Given the description of an element on the screen output the (x, y) to click on. 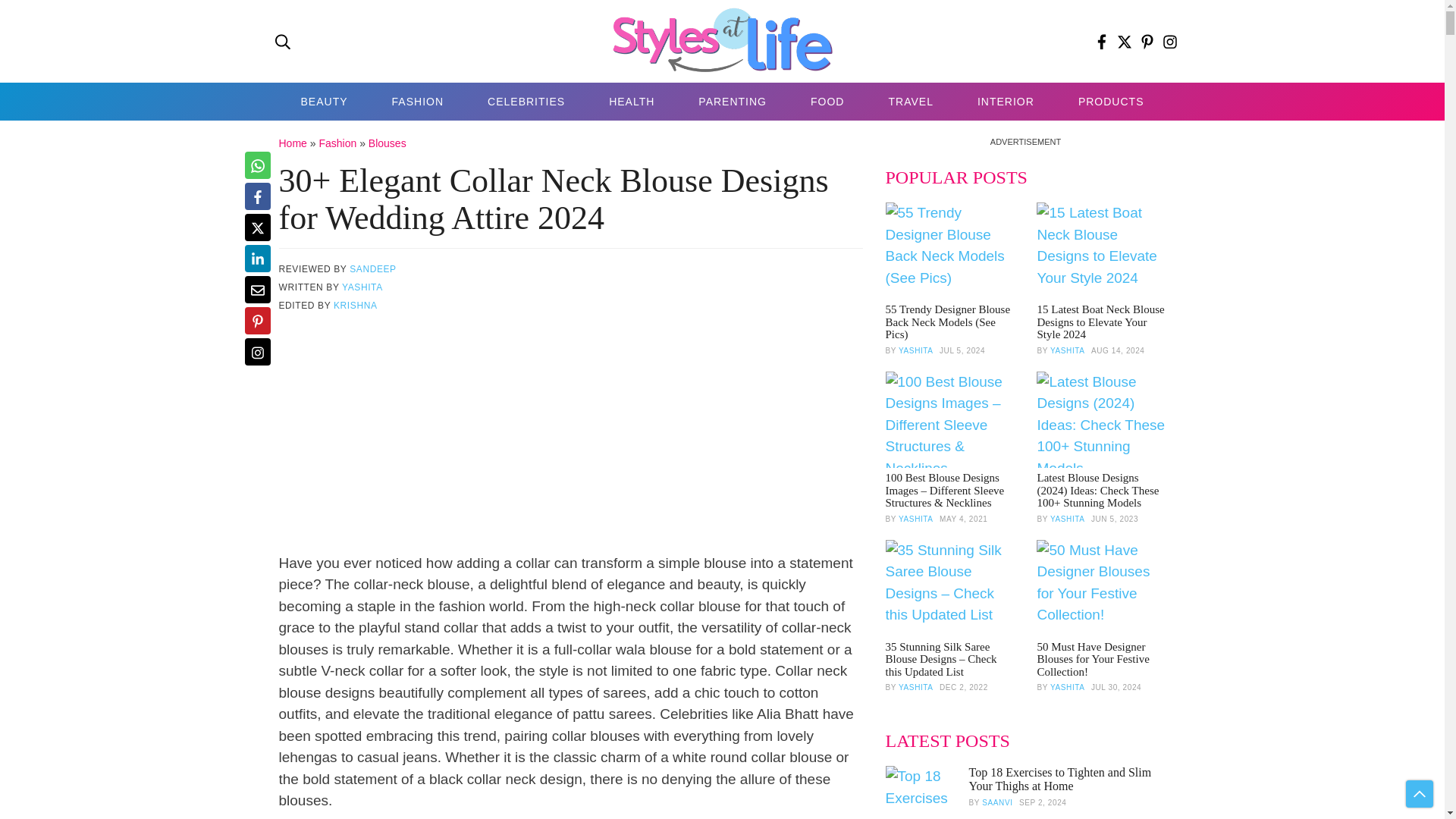
Posts by Yashita (915, 349)
INTERIOR (1006, 101)
Pin on Pinterest (256, 320)
YASHITA (362, 286)
Share on Twitter (256, 226)
Posts by Yashita (915, 519)
Share on Instagram (256, 351)
Fashion (337, 143)
Share on Facebook (256, 195)
TRAVEL (910, 101)
